Given the description of an element on the screen output the (x, y) to click on. 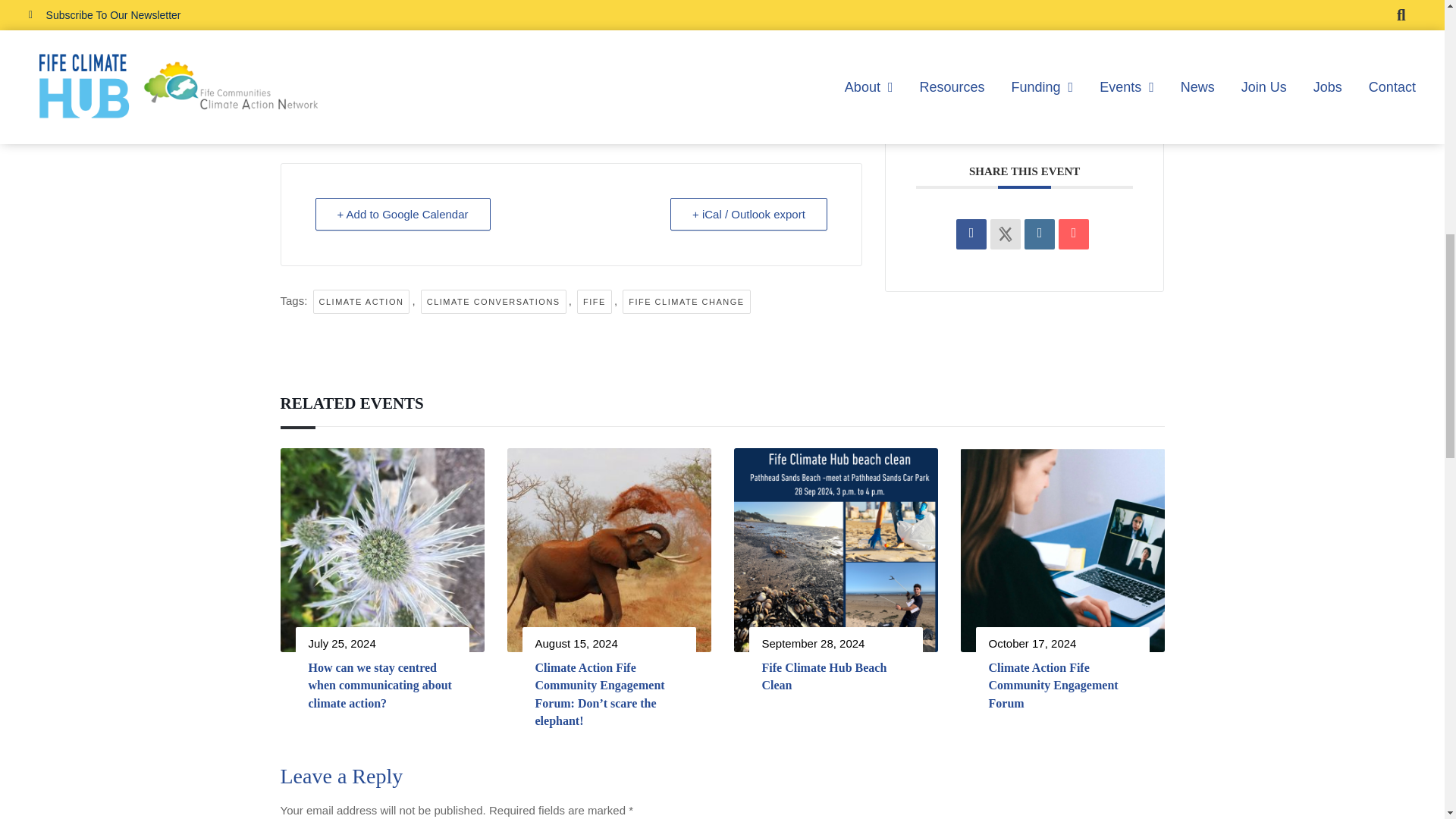
X Social Network (1005, 41)
Linkedin (1039, 41)
Share on Facebook (971, 41)
Email (1073, 41)
